Given the description of an element on the screen output the (x, y) to click on. 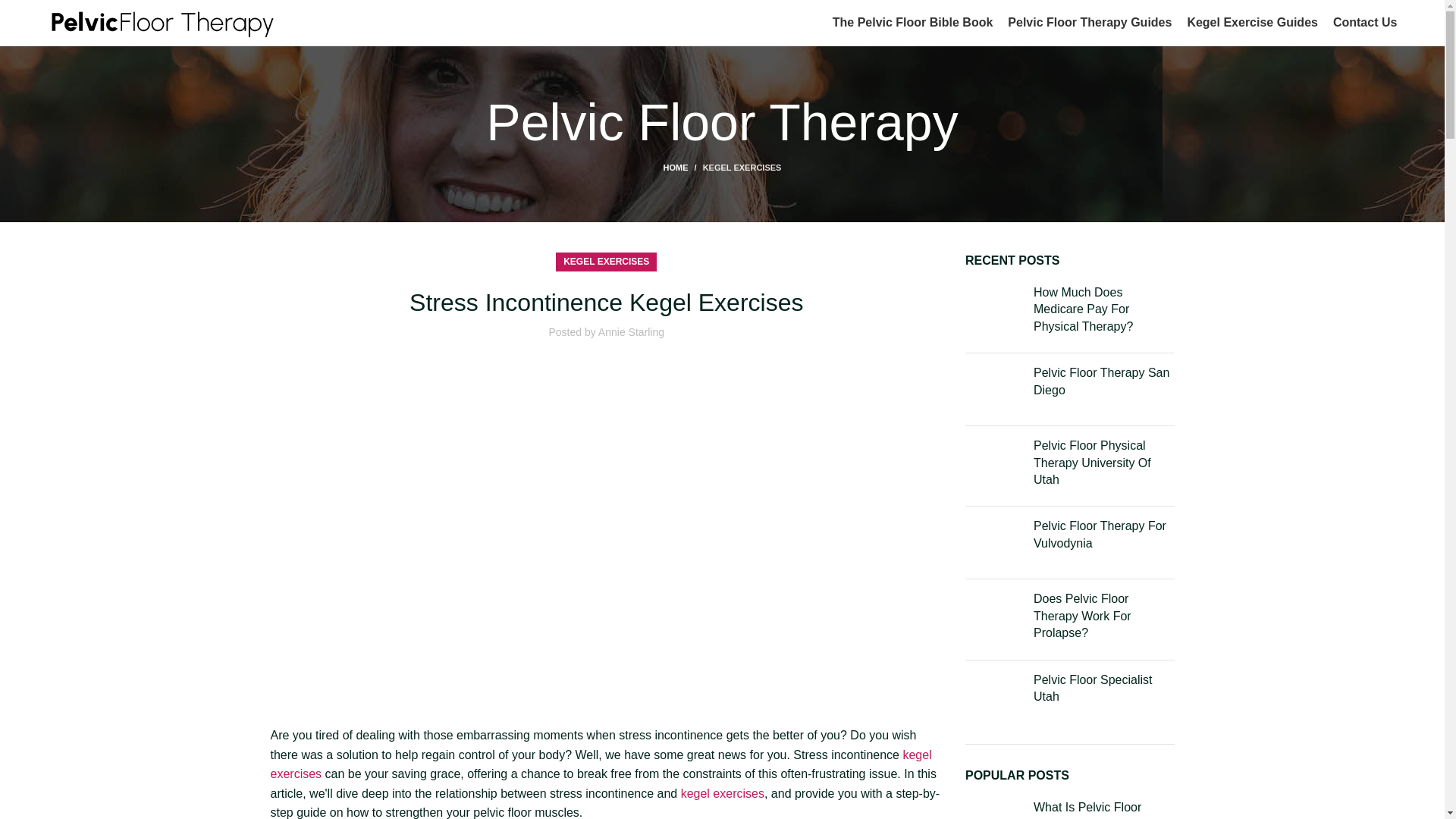
kegel exercises (600, 764)
kegel exercises (722, 793)
Pelvic Floor Therapy Guides (1089, 22)
KEGEL EXERCISES (742, 166)
Contact Us (1364, 22)
HOME (683, 167)
KEGEL EXERCISES (606, 261)
The Pelvic Floor Bible Book (912, 22)
Kegel Exercise Guides (1251, 22)
